Given the description of an element on the screen output the (x, y) to click on. 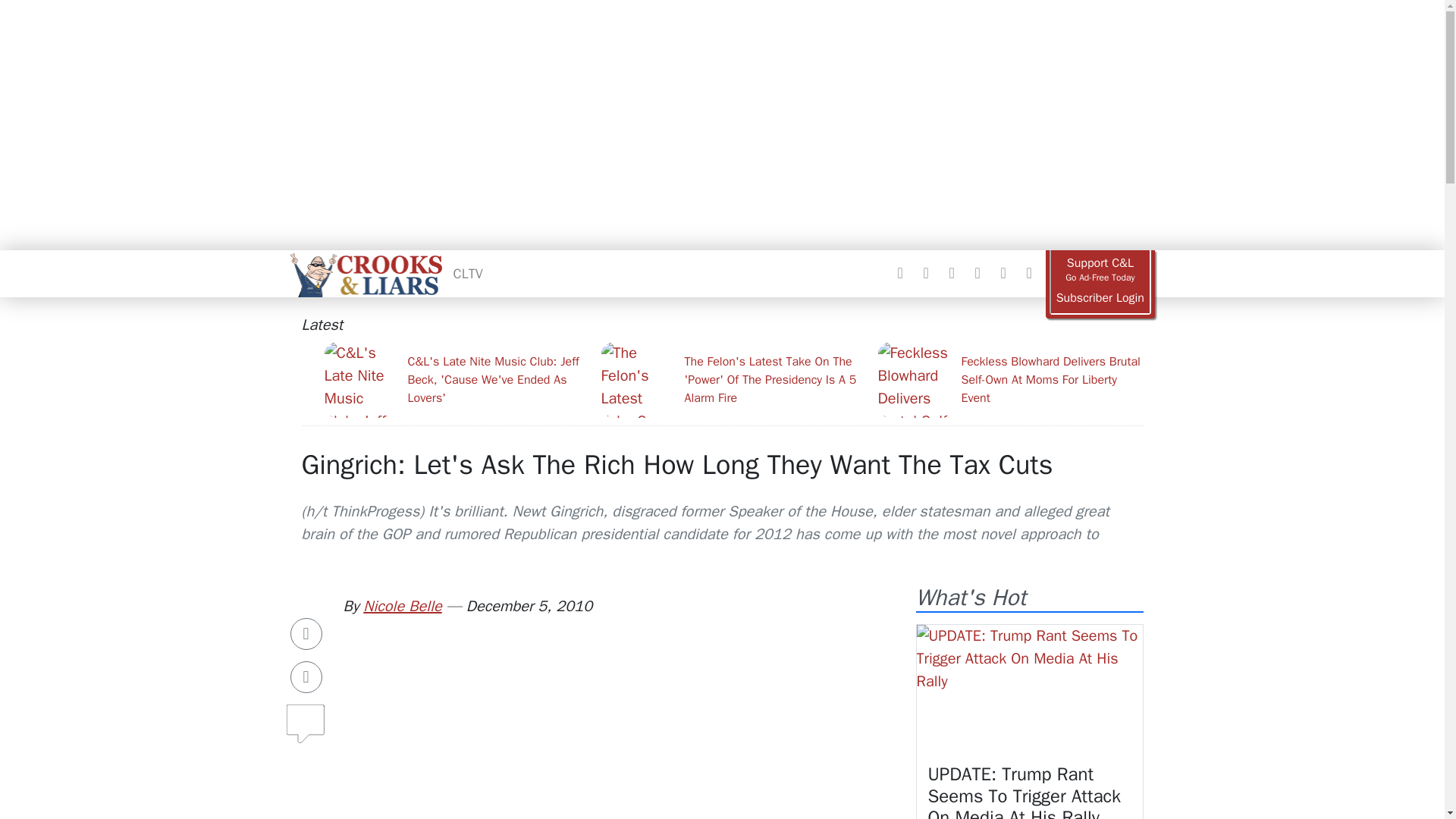
Share on Facebook (306, 634)
Login to your ad free account (1099, 298)
Share on Twitter (306, 676)
Go ad free today! (1099, 270)
Subscriber Login (1099, 298)
CLTV (467, 273)
Nicole Belle (401, 606)
Nicole Belle (401, 606)
